Given the description of an element on the screen output the (x, y) to click on. 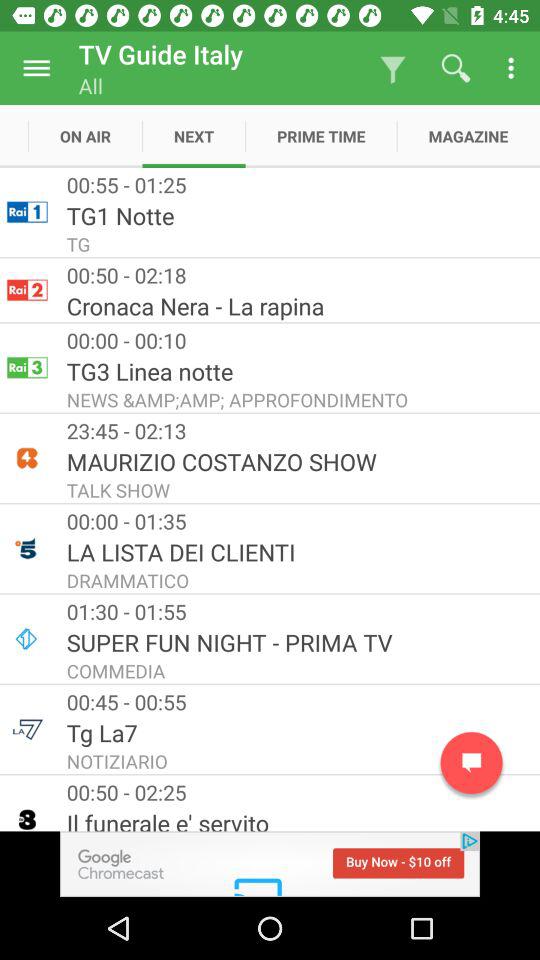
advertisement banner (270, 864)
